Given the description of an element on the screen output the (x, y) to click on. 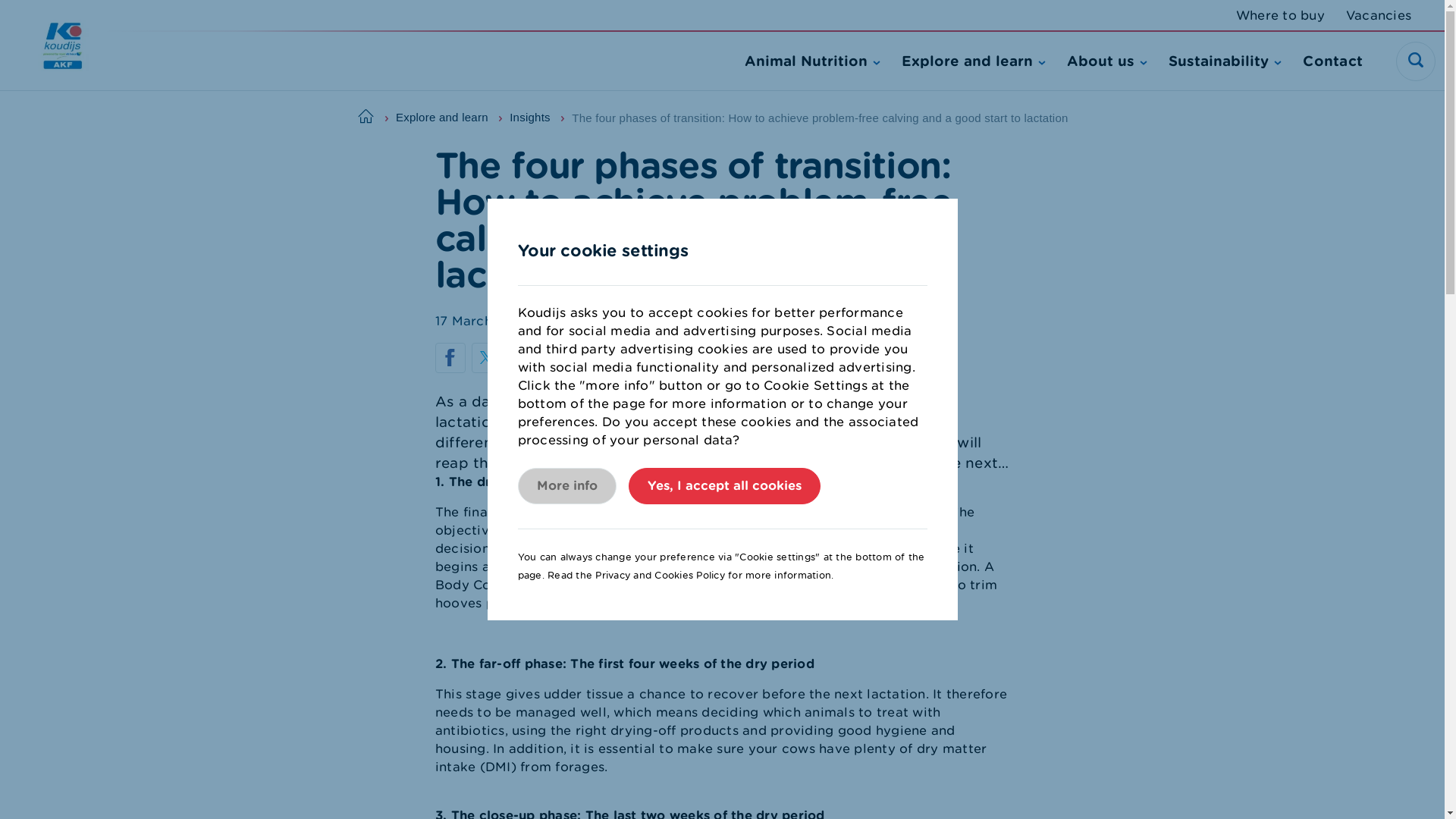
Contact (1332, 60)
Sustainability (1225, 60)
Explore and learn (973, 60)
Where to buy (1280, 15)
About us (1107, 60)
Animal Nutrition (812, 60)
Vacancies (1377, 15)
